Given the description of an element on the screen output the (x, y) to click on. 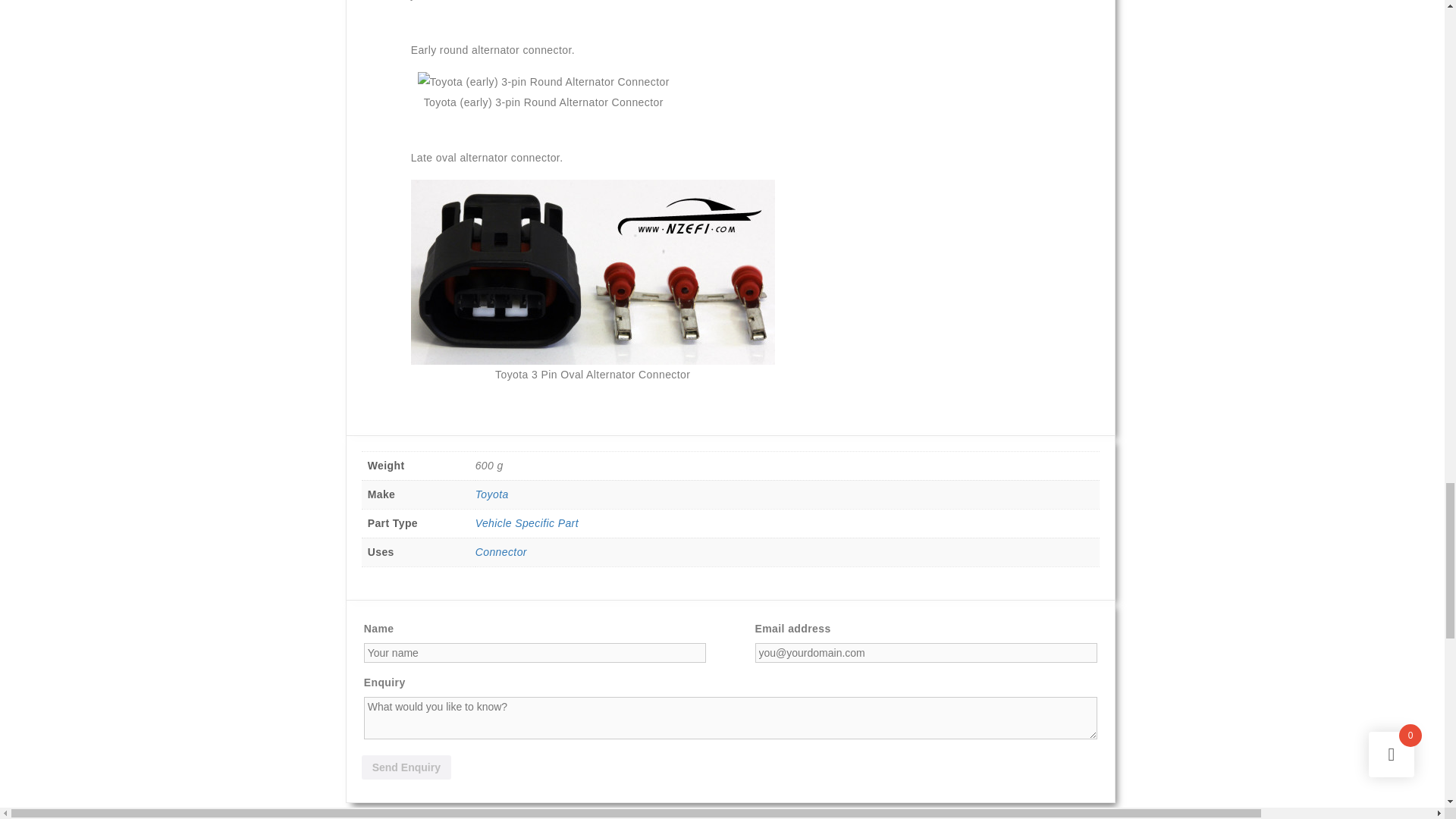
Send Enquiry (406, 766)
